Given the description of an element on the screen output the (x, y) to click on. 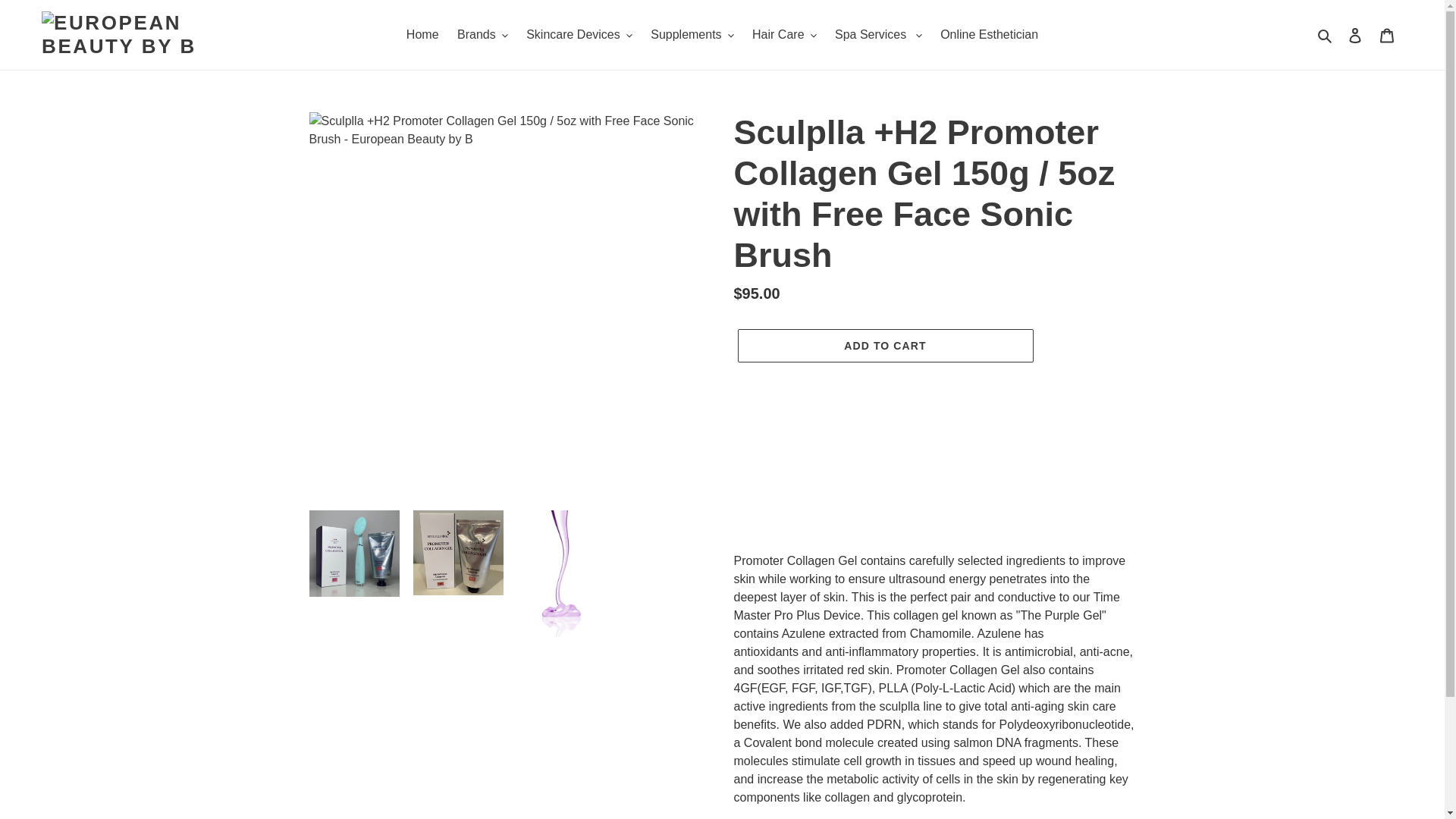
Brands (482, 34)
Home (422, 34)
